Given the description of an element on the screen output the (x, y) to click on. 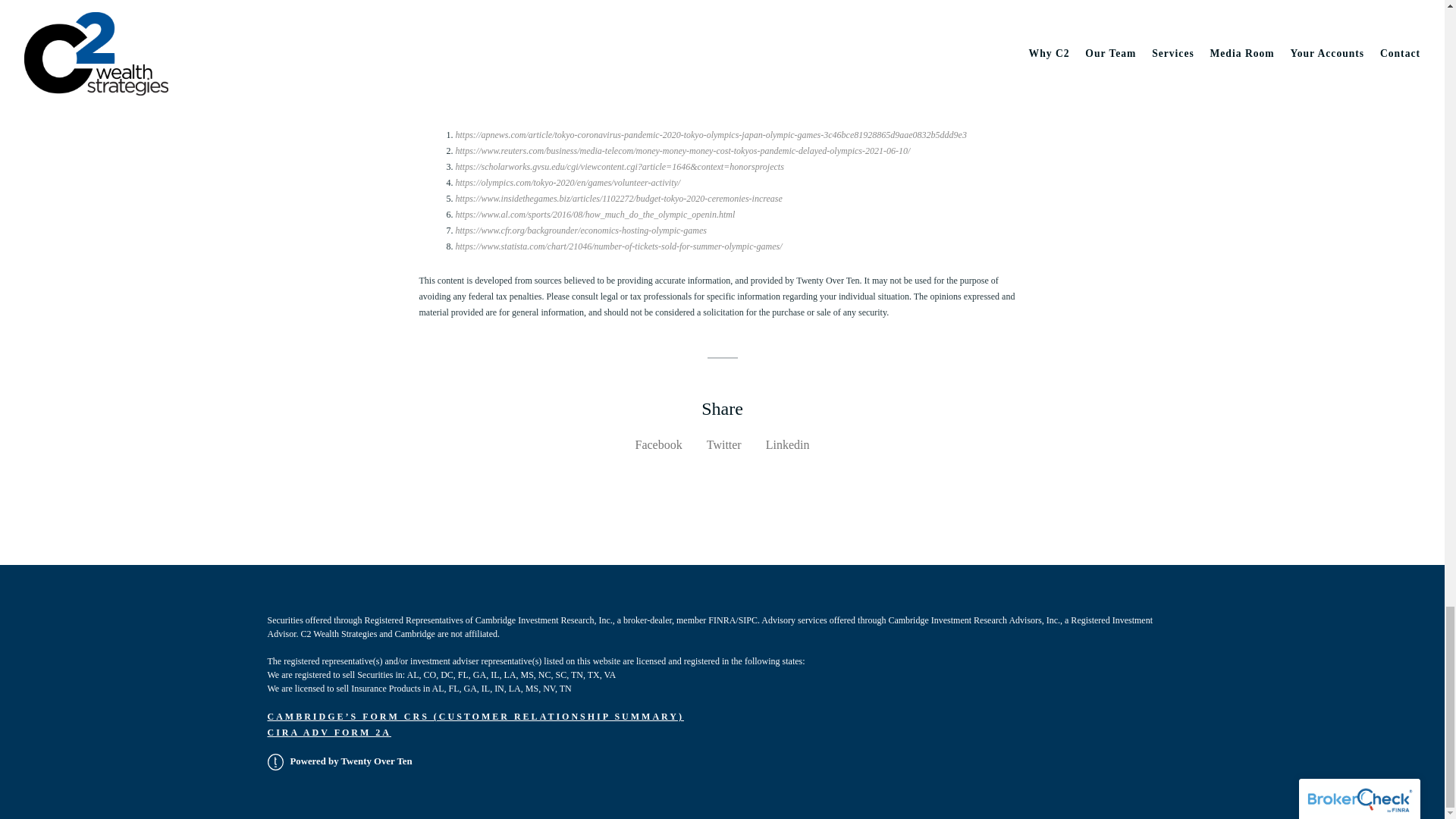
CIRA ADV FORM 2A (328, 732)
Powered by Twenty Over Ten (339, 760)
Twitter (723, 444)
Linkedin (787, 444)
Facebook (658, 444)
